Given the description of an element on the screen output the (x, y) to click on. 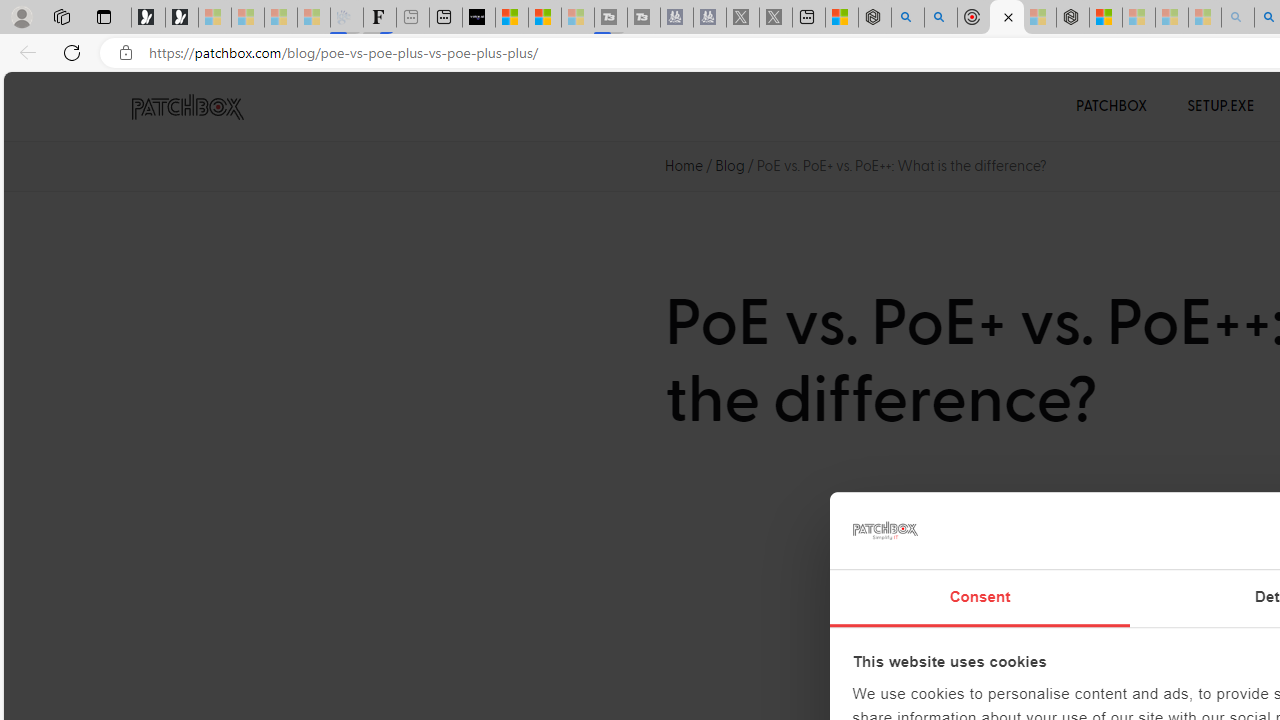
Consent (979, 598)
PATCHBOX - Simplify IT (187, 107)
PATCHBOX (1111, 106)
X - Sleeping (776, 17)
Streaming Coverage | T3 - Sleeping (611, 17)
poe ++ standard - Search (941, 17)
poe - Search (908, 17)
amazon - Search - Sleeping (1238, 17)
PATCHBOX (1111, 106)
